Given the description of an element on the screen output the (x, y) to click on. 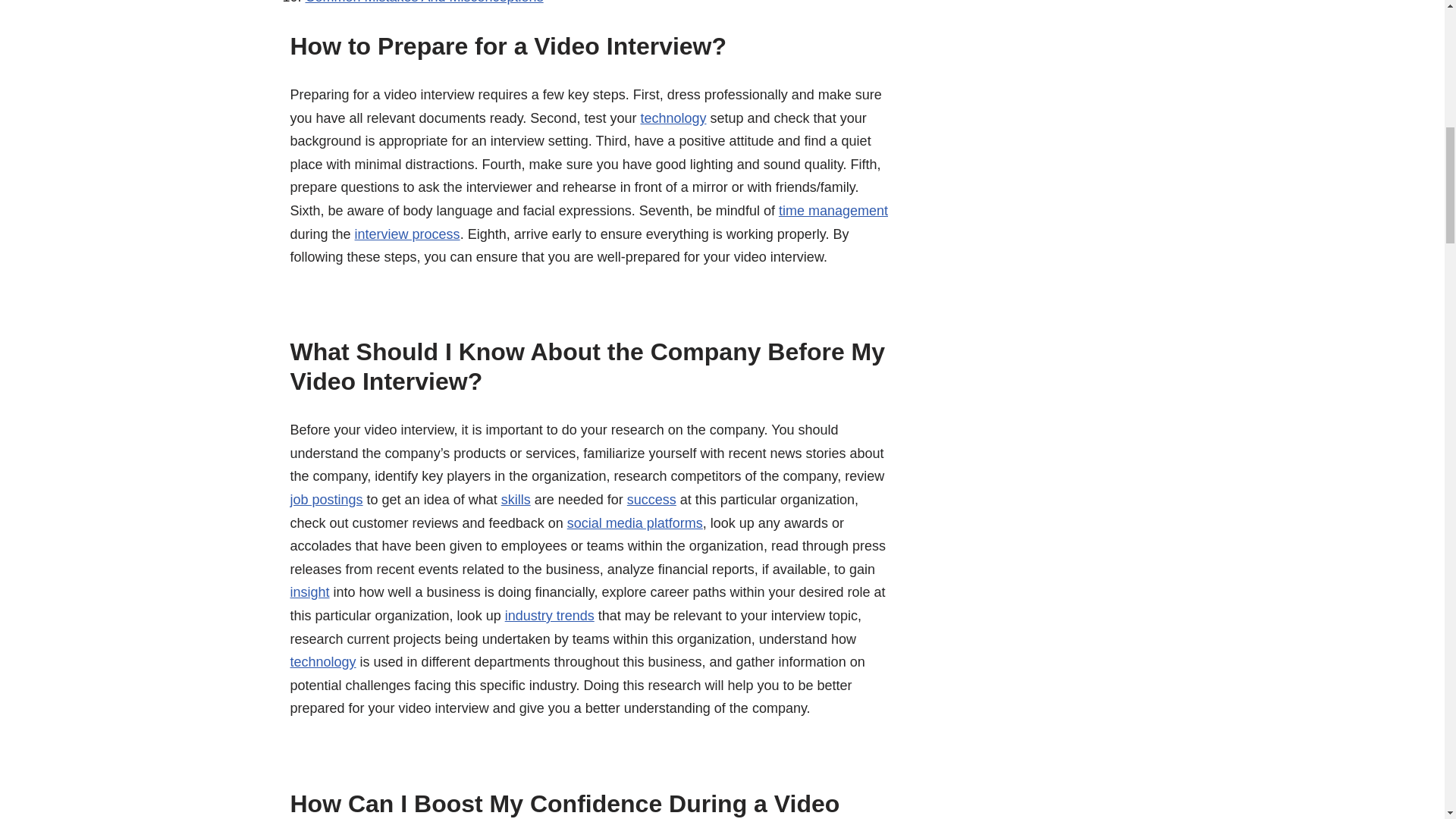
success (652, 499)
job postings (325, 499)
skills (515, 499)
time management (833, 210)
technology (322, 661)
interview process (407, 233)
industry trends (549, 615)
Common Mistakes And Misconceptions (423, 2)
technology (673, 118)
insight (309, 591)
social media platforms (635, 522)
